Given the description of an element on the screen output the (x, y) to click on. 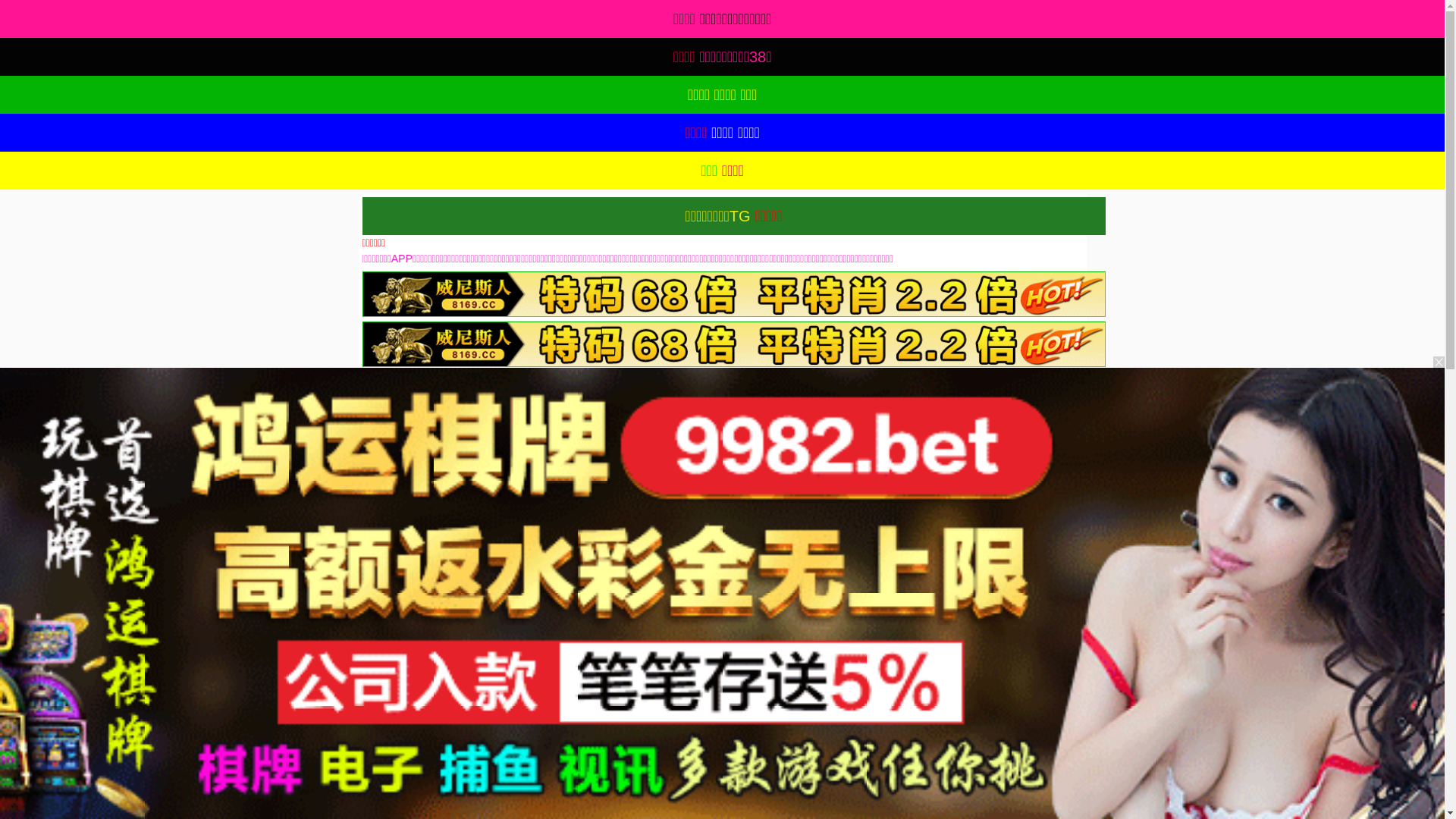
91TV Element type: hover (1240, 593)
